Given the description of an element on the screen output the (x, y) to click on. 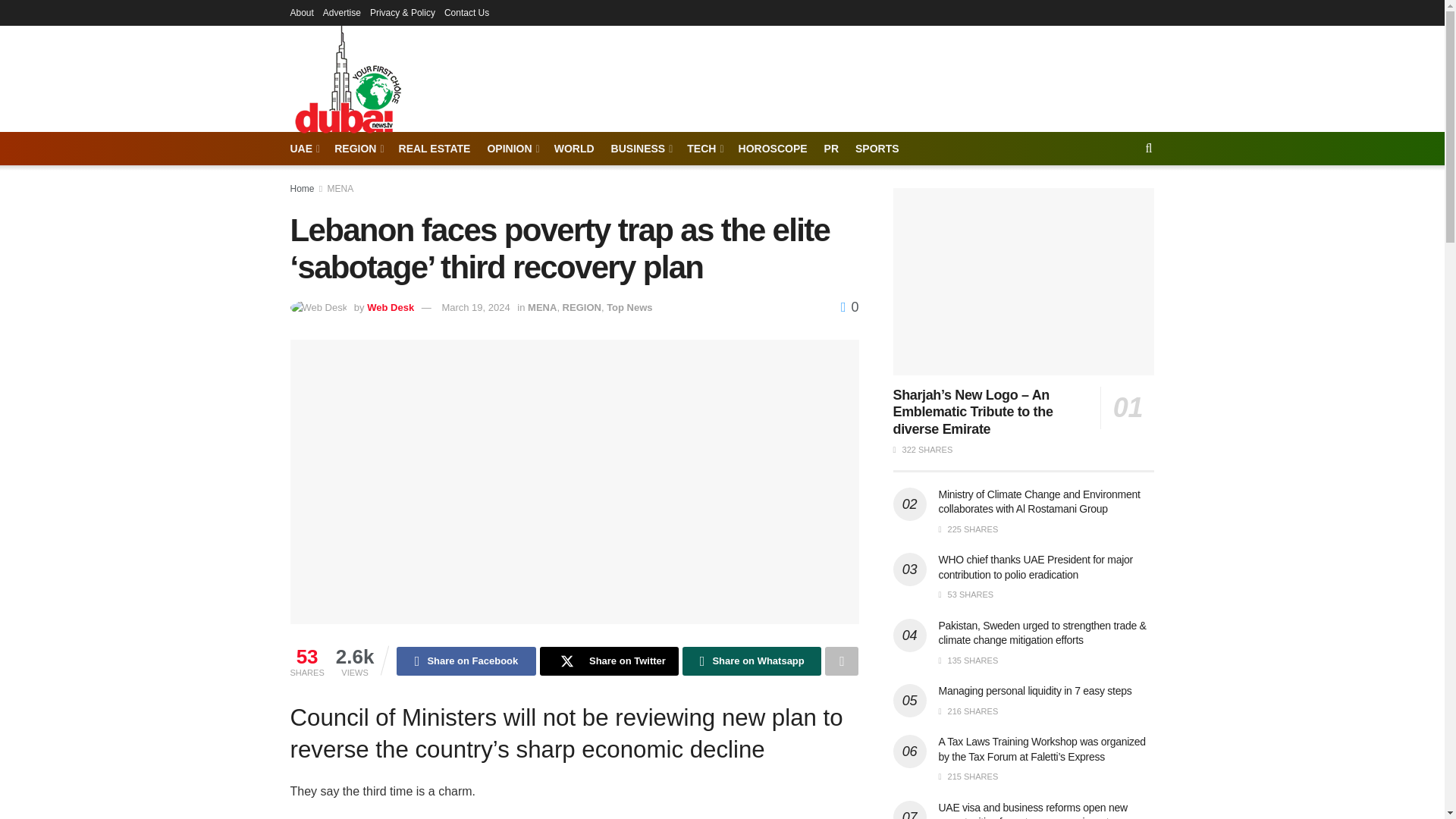
OPINION (511, 148)
BUSINESS (641, 148)
Advertise (342, 12)
HOROSCOPE (773, 148)
Contact Us (466, 12)
WORLD (574, 148)
About (301, 12)
REAL ESTATE (434, 148)
REGION (357, 148)
SPORTS (877, 148)
